Given the description of an element on the screen output the (x, y) to click on. 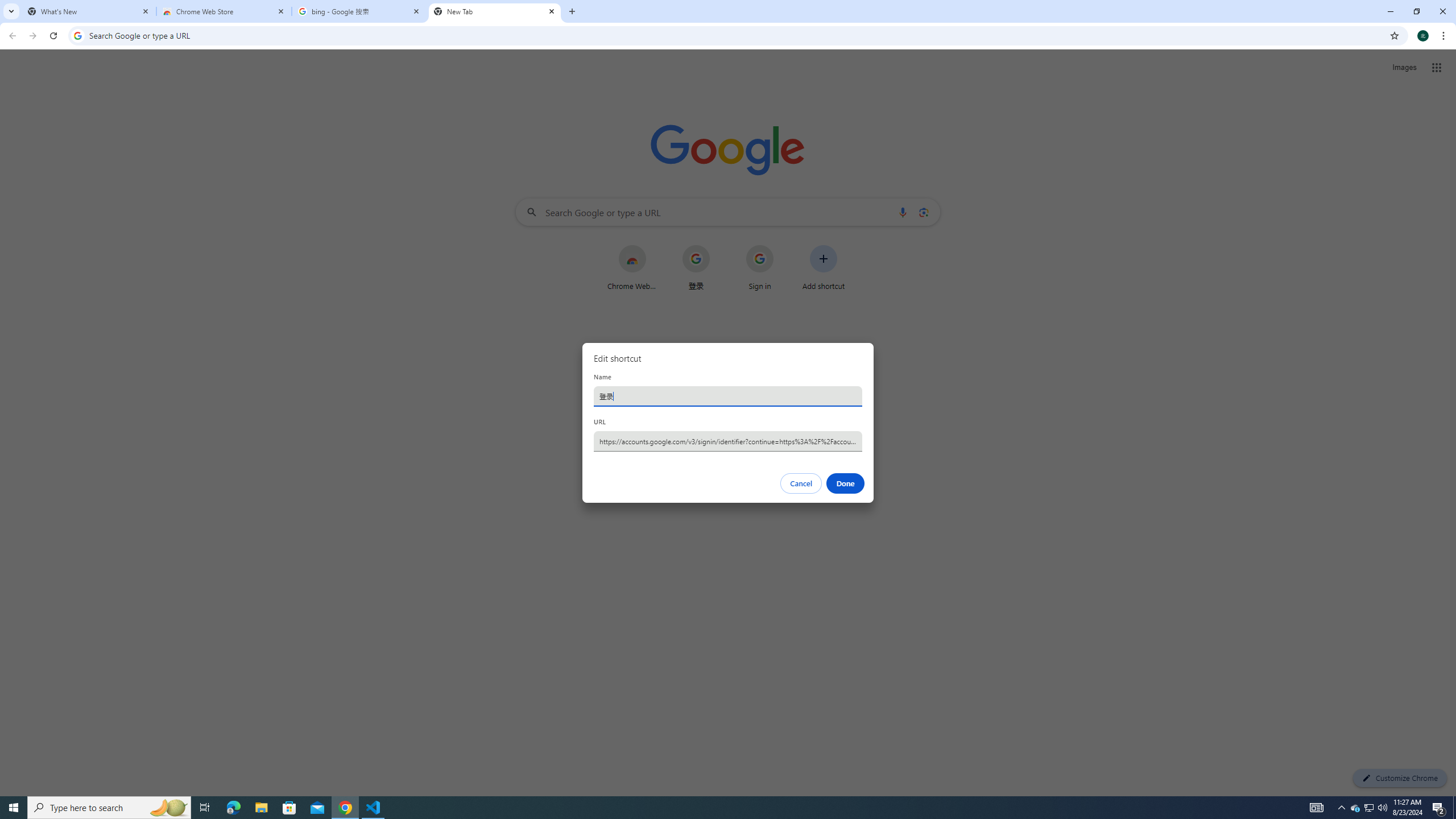
What's New (88, 11)
Name (727, 396)
